Given the description of an element on the screen output the (x, y) to click on. 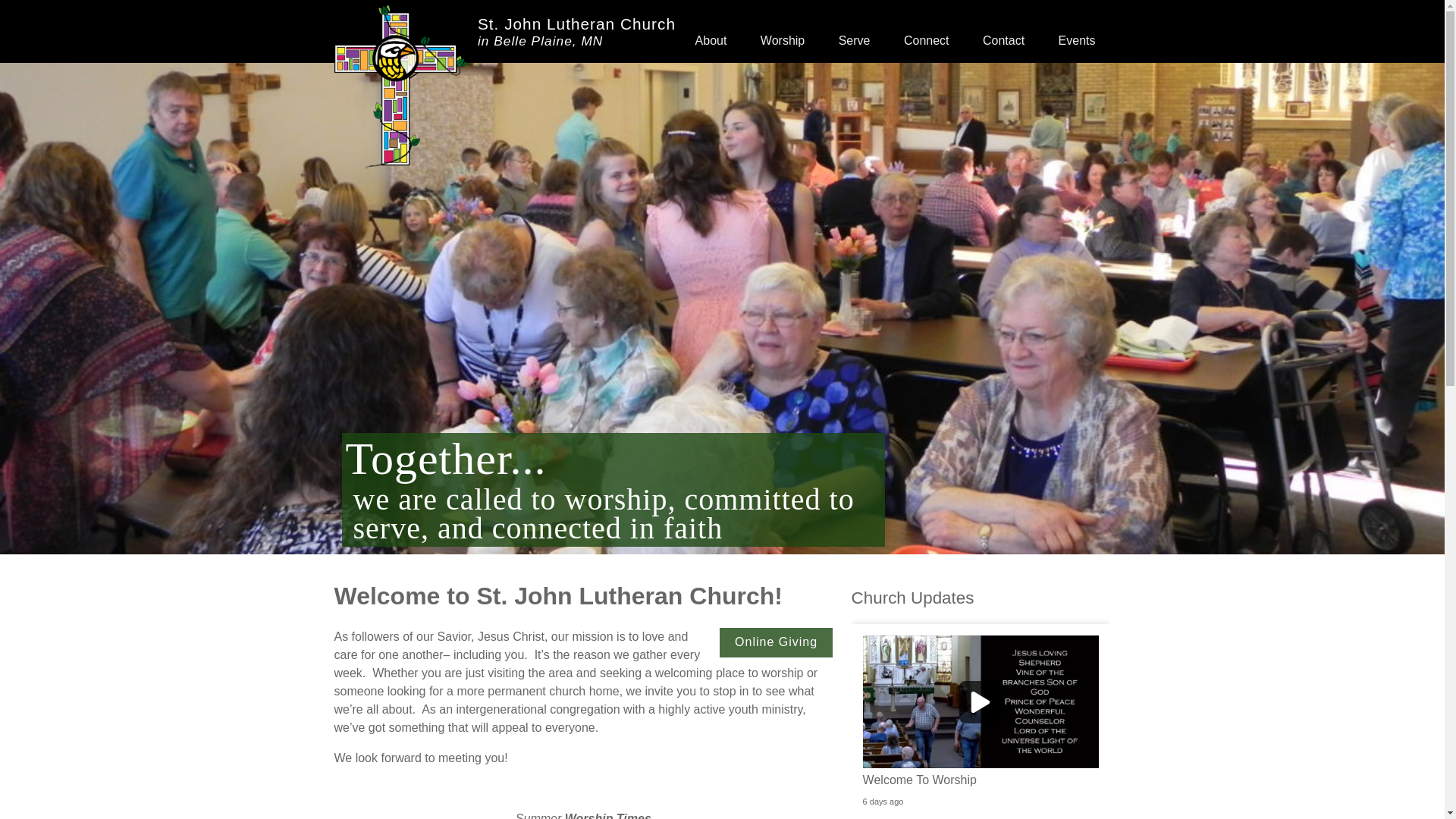
Serve (854, 31)
Play (981, 701)
Connect (504, 88)
Online Giving (925, 31)
About (775, 642)
Events (710, 31)
Contact (1076, 31)
Worship (1003, 31)
